Given the description of an element on the screen output the (x, y) to click on. 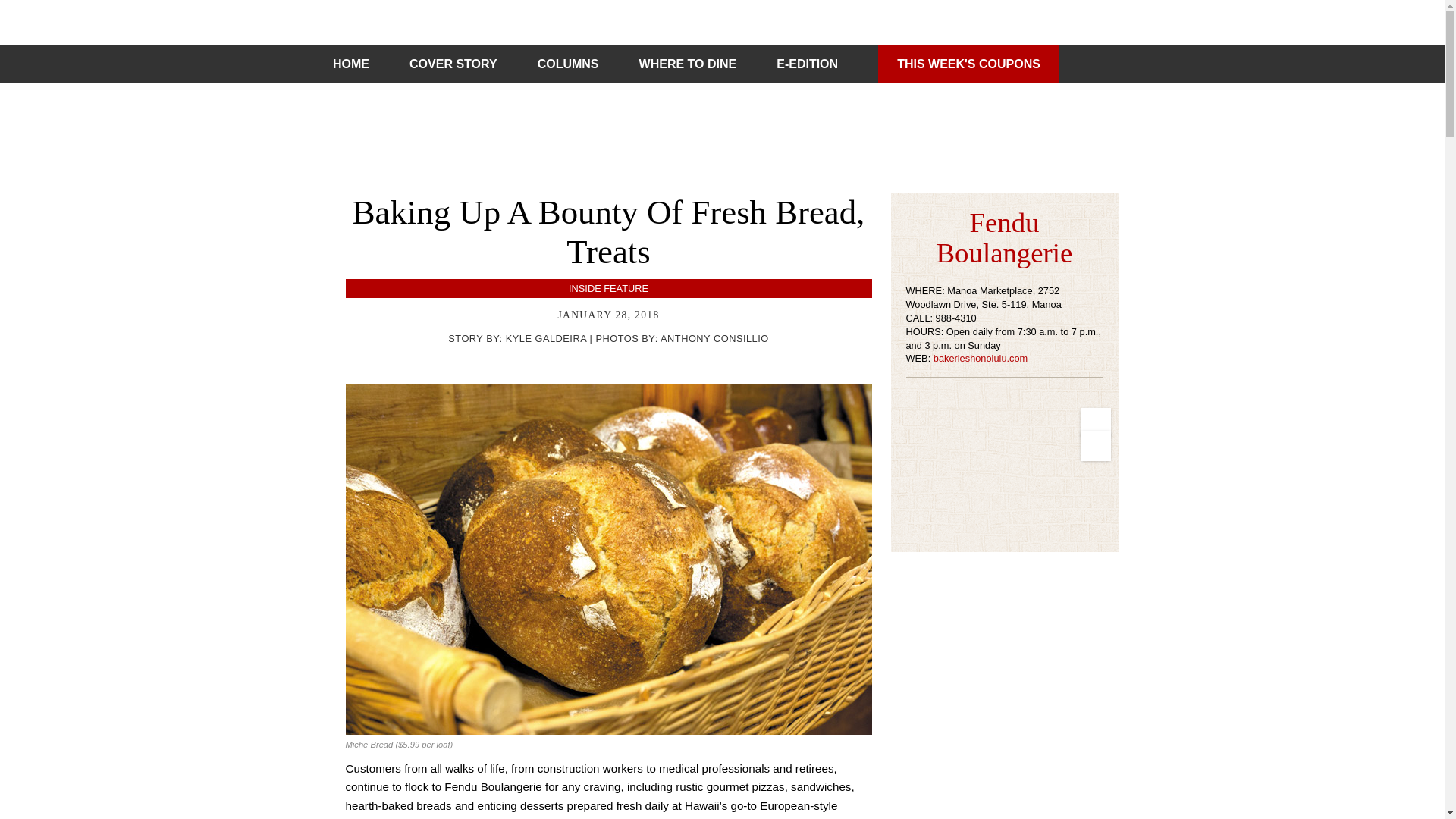
INSIDE FEATURE (608, 288)
HOME (351, 63)
Your Location (1094, 445)
bakerieshonolulu.com (980, 357)
WHERE TO DINE (687, 63)
THIS WEEK'S COUPONS (968, 64)
Toggle fullscreen view (1094, 422)
COVER STORY (453, 63)
Inside Feature (608, 288)
